Given the description of an element on the screen output the (x, y) to click on. 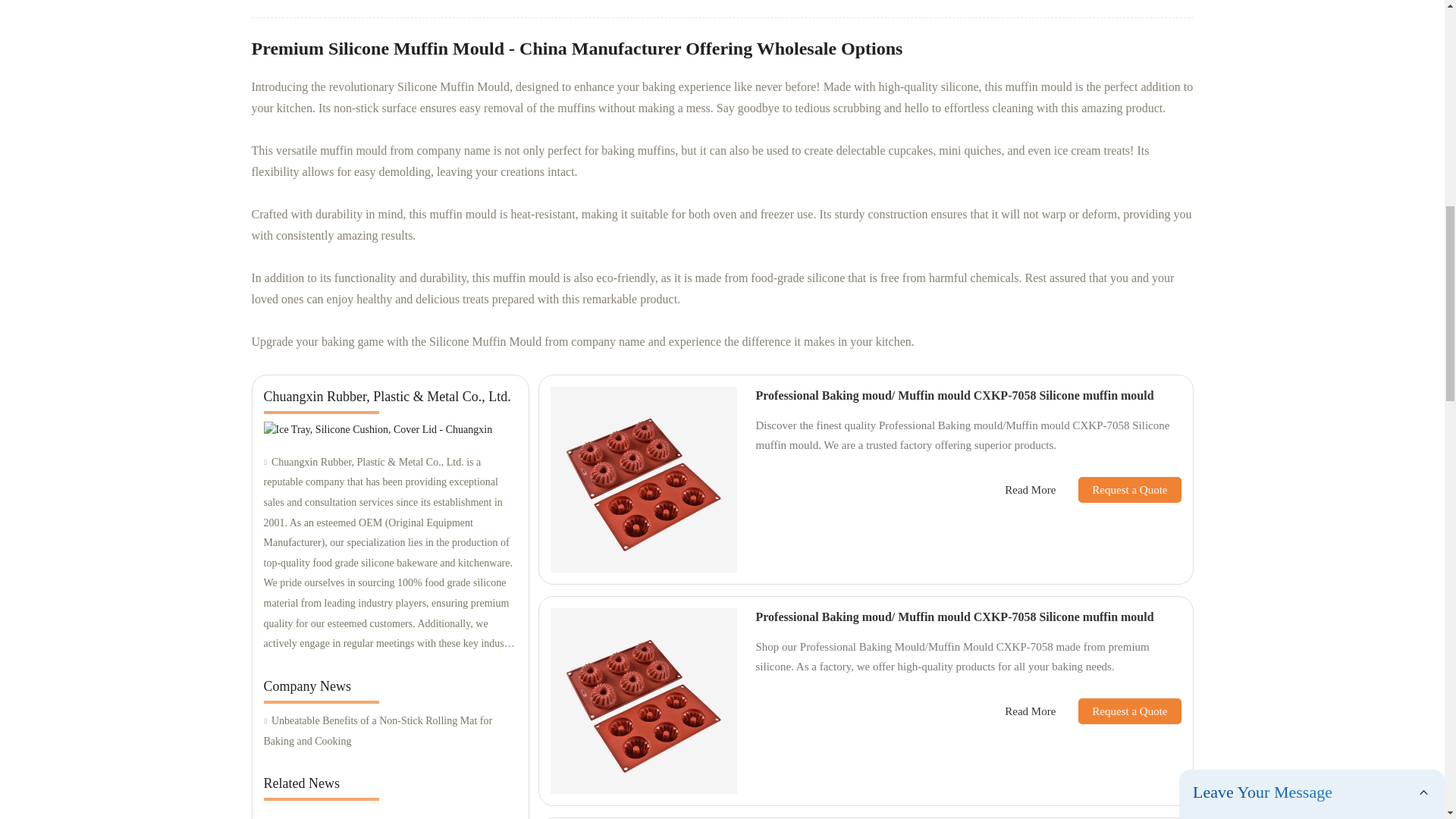
Request a Quote (1117, 710)
Read More (1029, 489)
Request a Quote (1117, 489)
Read More (1029, 711)
